Given the description of an element on the screen output the (x, y) to click on. 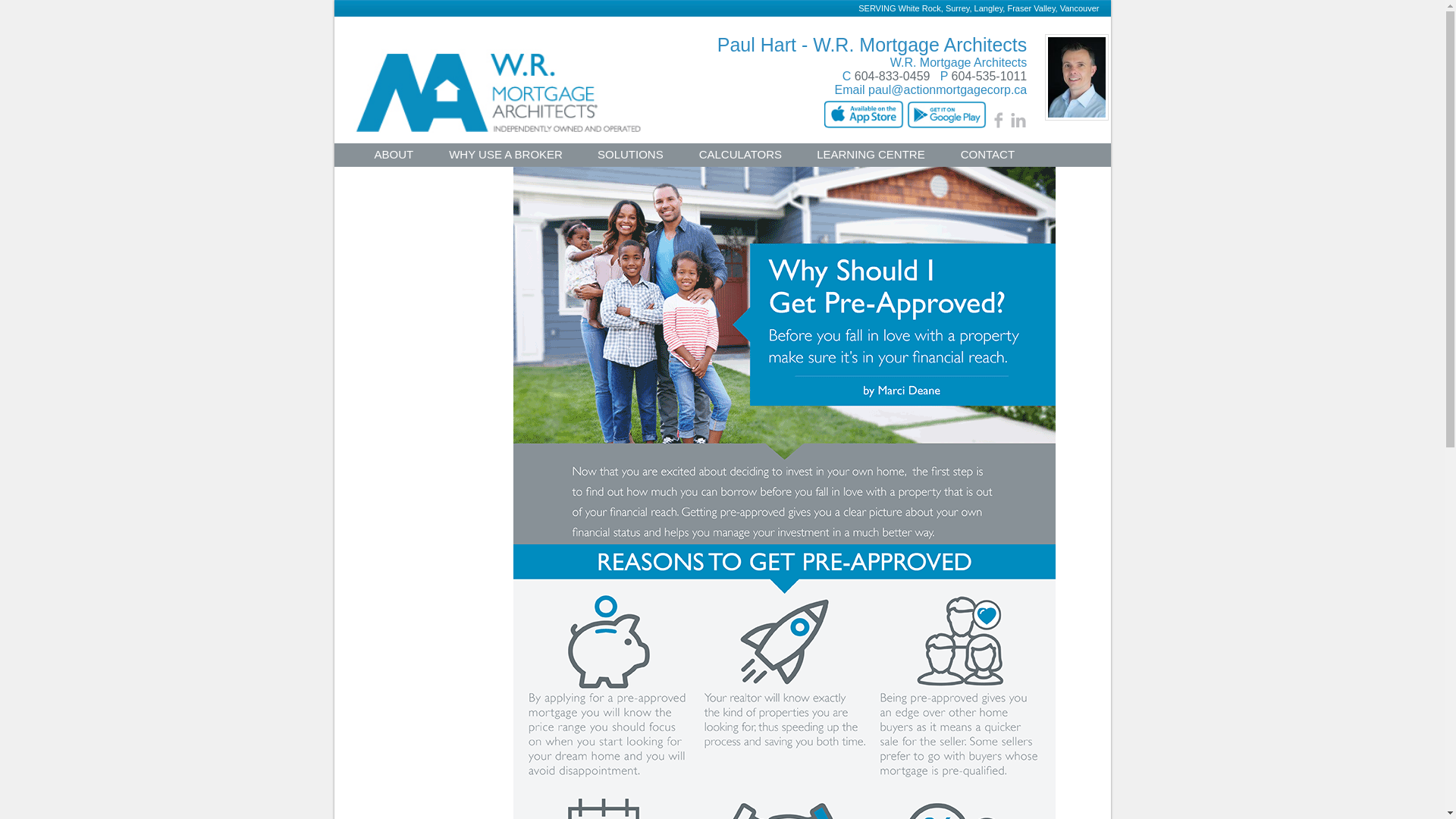
CALCULATORS Element type: text (740, 157)
WHY USE A BROKER Element type: text (505, 157)
SOLUTIONS Element type: text (630, 157)
APPLY NOW Element type: text (407, 180)
LEARNING CENTRE Element type: text (871, 157)
ABOUT Element type: text (393, 157)
paul@actionmortgagecorp.ca Element type: text (947, 89)
CONTACT Element type: text (987, 157)
